Given the description of an element on the screen output the (x, y) to click on. 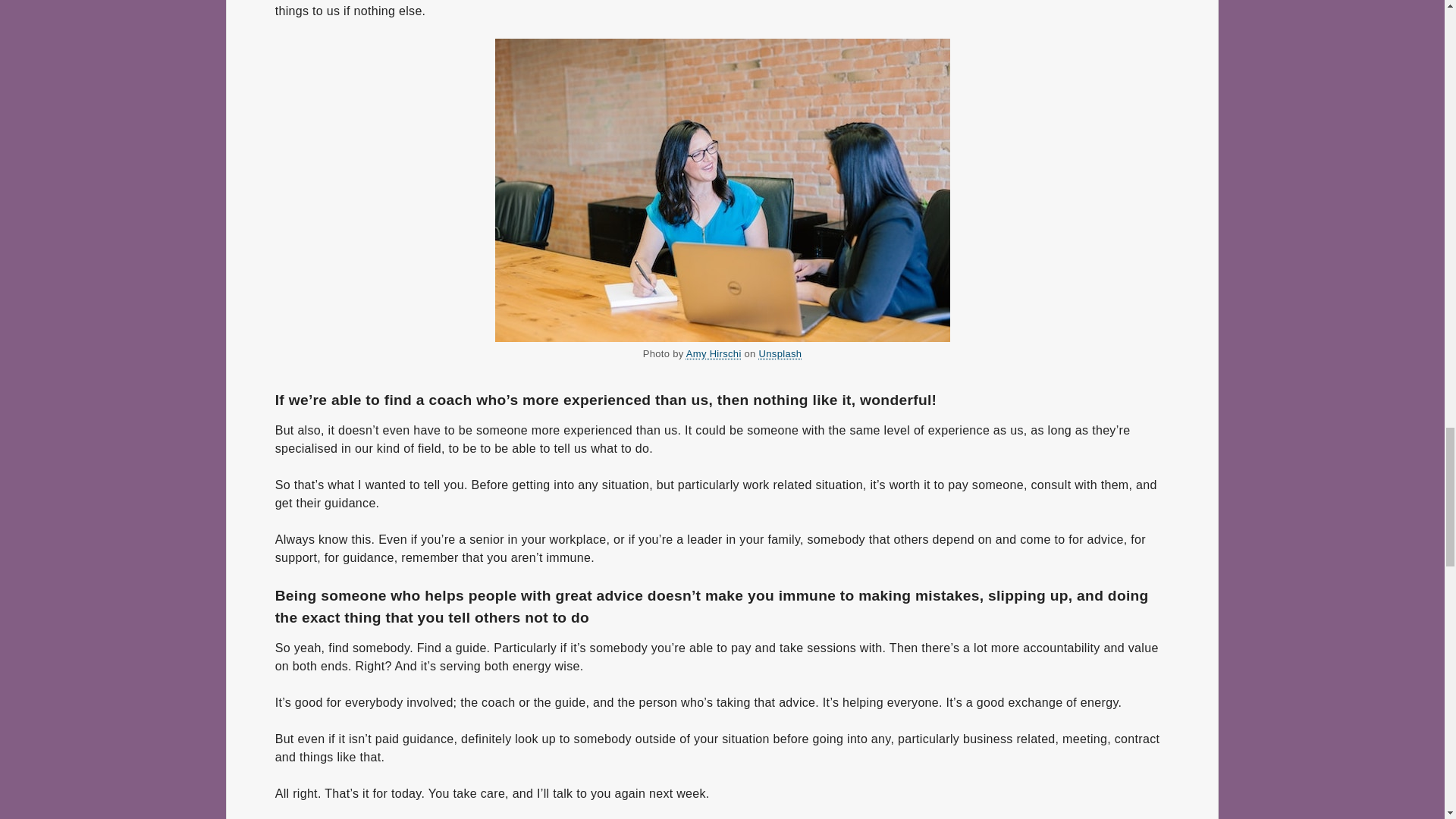
Unsplash (780, 354)
Amy Hirschi (713, 354)
